Given the description of an element on the screen output the (x, y) to click on. 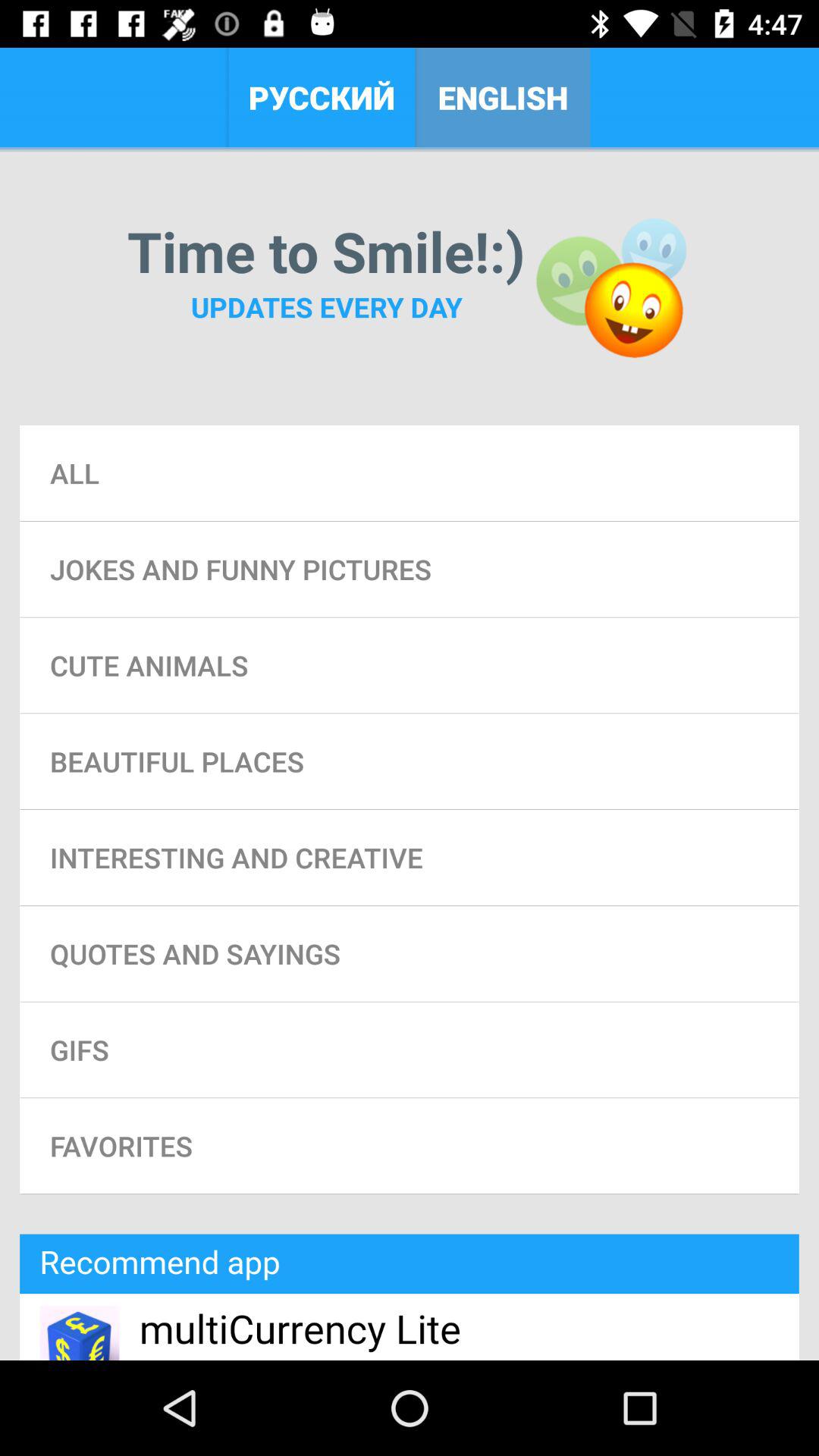
jump to english item (502, 97)
